Given the description of an element on the screen output the (x, y) to click on. 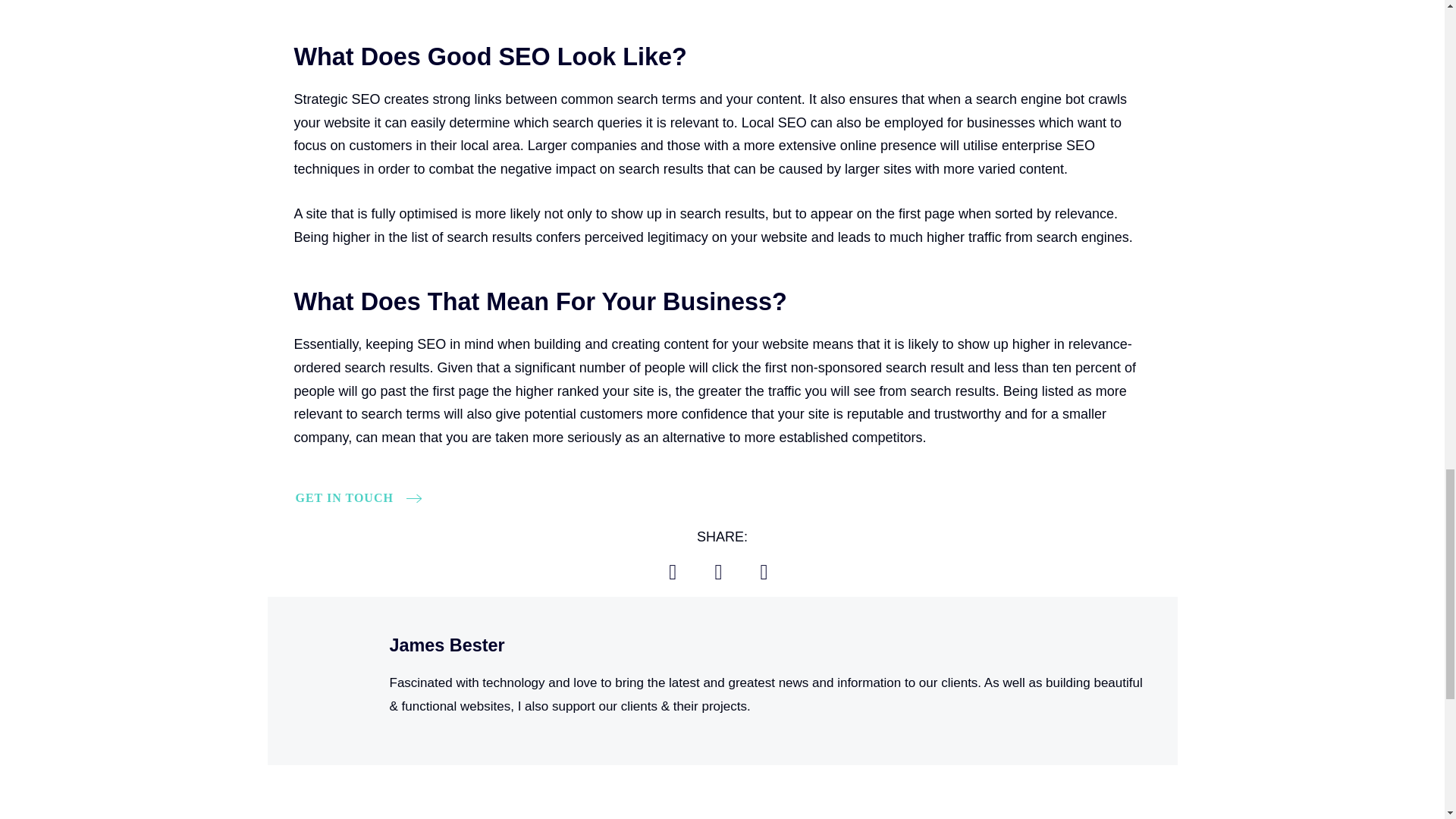
less than ten percent of people will go past the first page (715, 379)
Share on linkedin (763, 571)
Share on facebook (673, 571)
Share on twitter (718, 571)
GET IN TOUCH (350, 498)
